Given the description of an element on the screen output the (x, y) to click on. 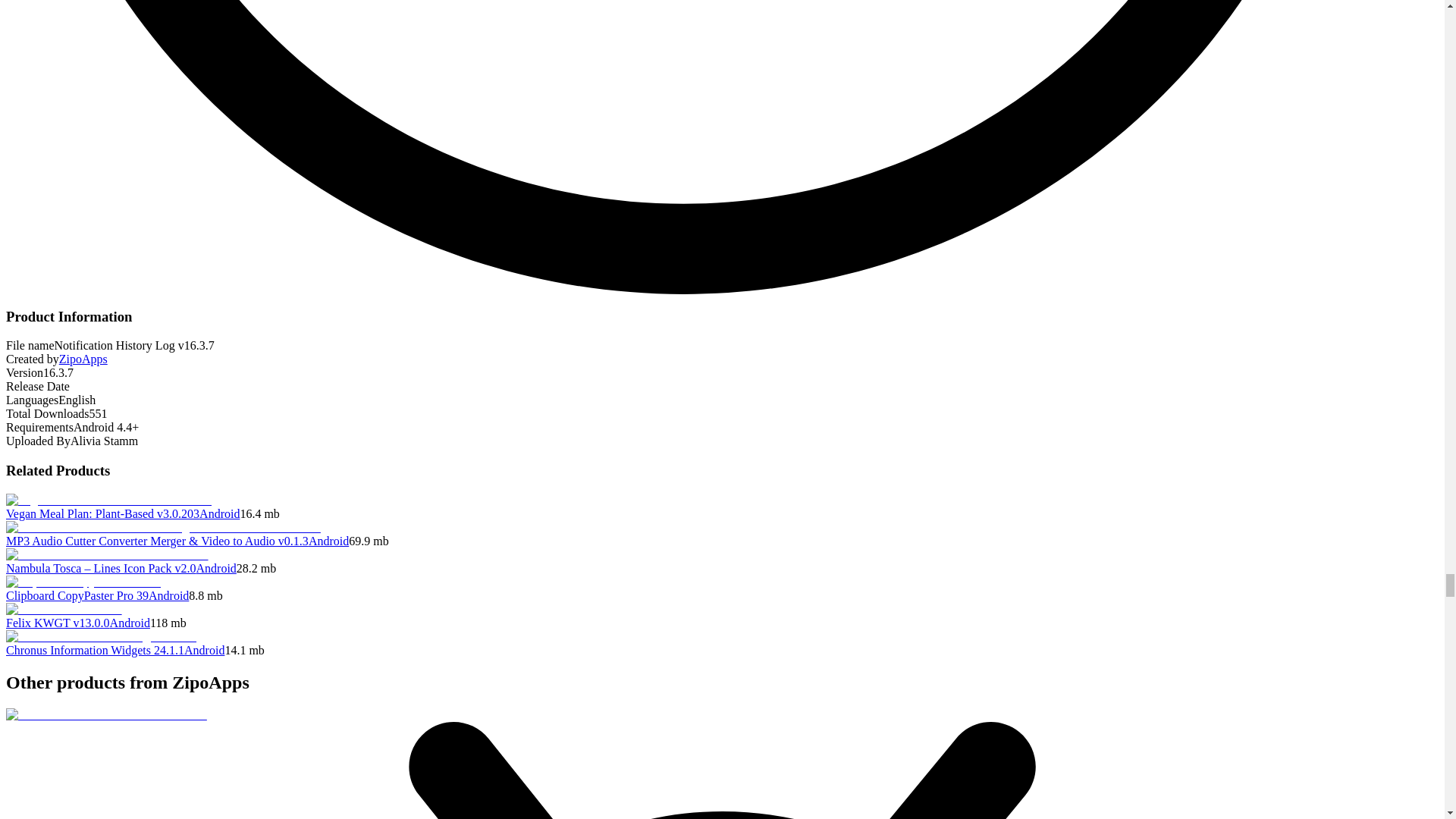
Android (215, 567)
Android (168, 594)
Felix KWGT v13.0.0 (57, 622)
ZipoApps (83, 358)
Android (328, 540)
Clipboard CopyPaster Pro 39 (76, 594)
Android (129, 622)
Vegan Meal Plan: Plant-Based v3.0.203 (102, 513)
Android (219, 513)
